Given the description of an element on the screen output the (x, y) to click on. 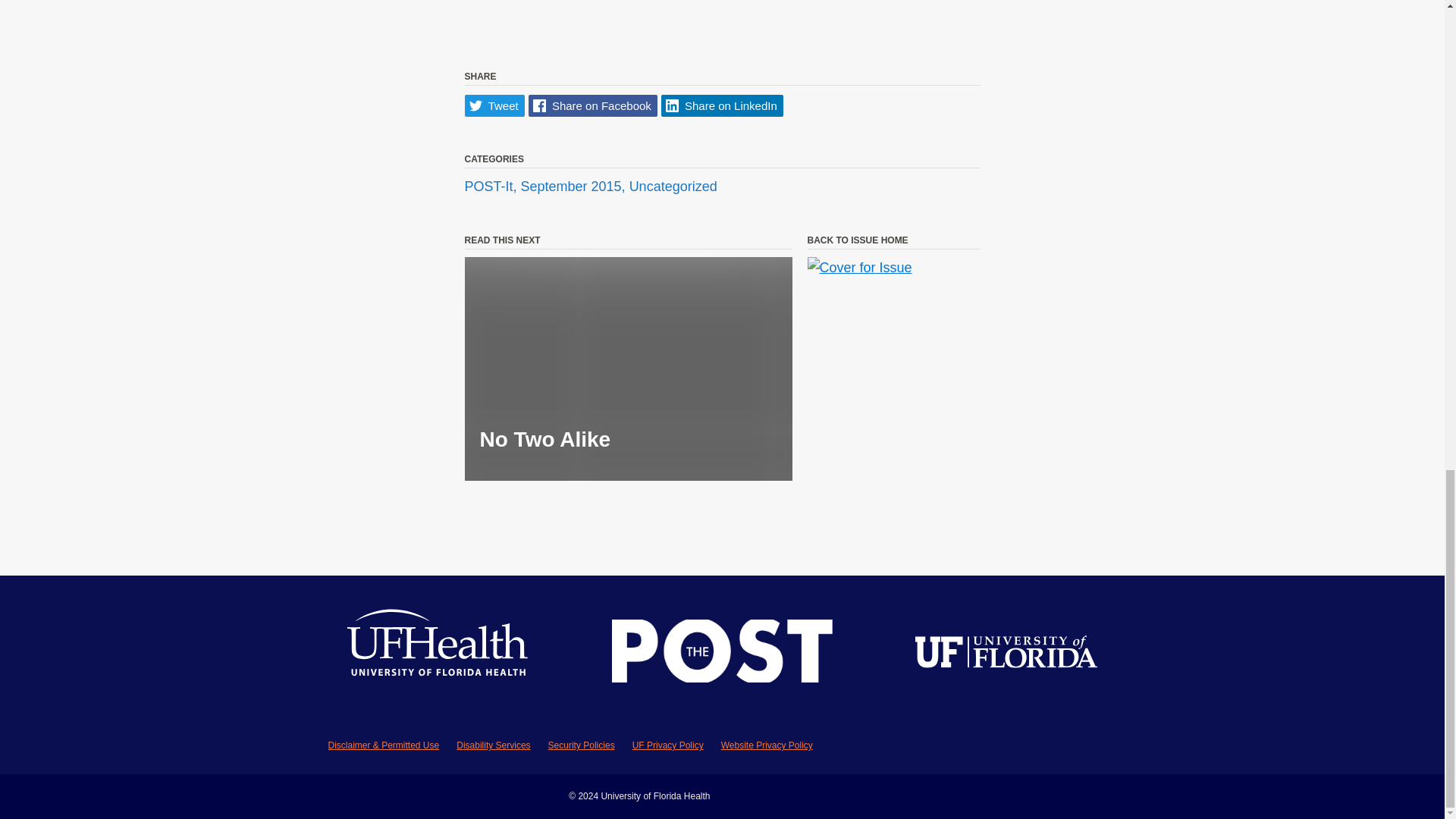
UF Privacy Policy (667, 745)
Tweet (494, 106)
Share on Facebook (593, 106)
Security Policies (581, 745)
No Two Alike (628, 368)
UF Health Logo (437, 654)
POST-It, (491, 186)
University of Florida (1005, 654)
Uncategorized (672, 186)
September 2015, (574, 186)
